Given the description of an element on the screen output the (x, y) to click on. 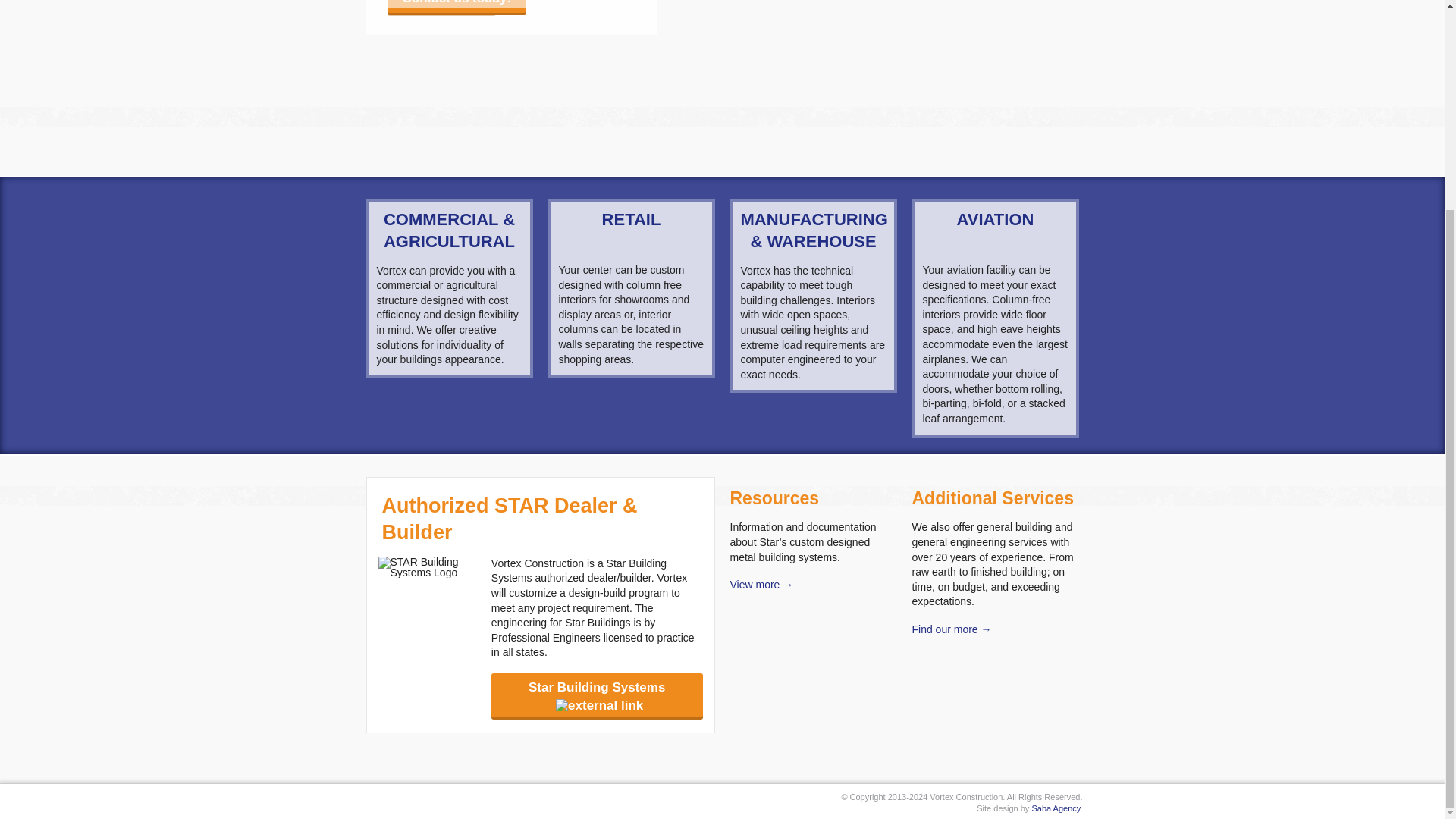
Get A Quote! (441, 6)
Saba Agency (1055, 808)
Contact us today! (456, 6)
Star Building Systems (597, 695)
Get A Quote! (441, 6)
